Given the description of an element on the screen output the (x, y) to click on. 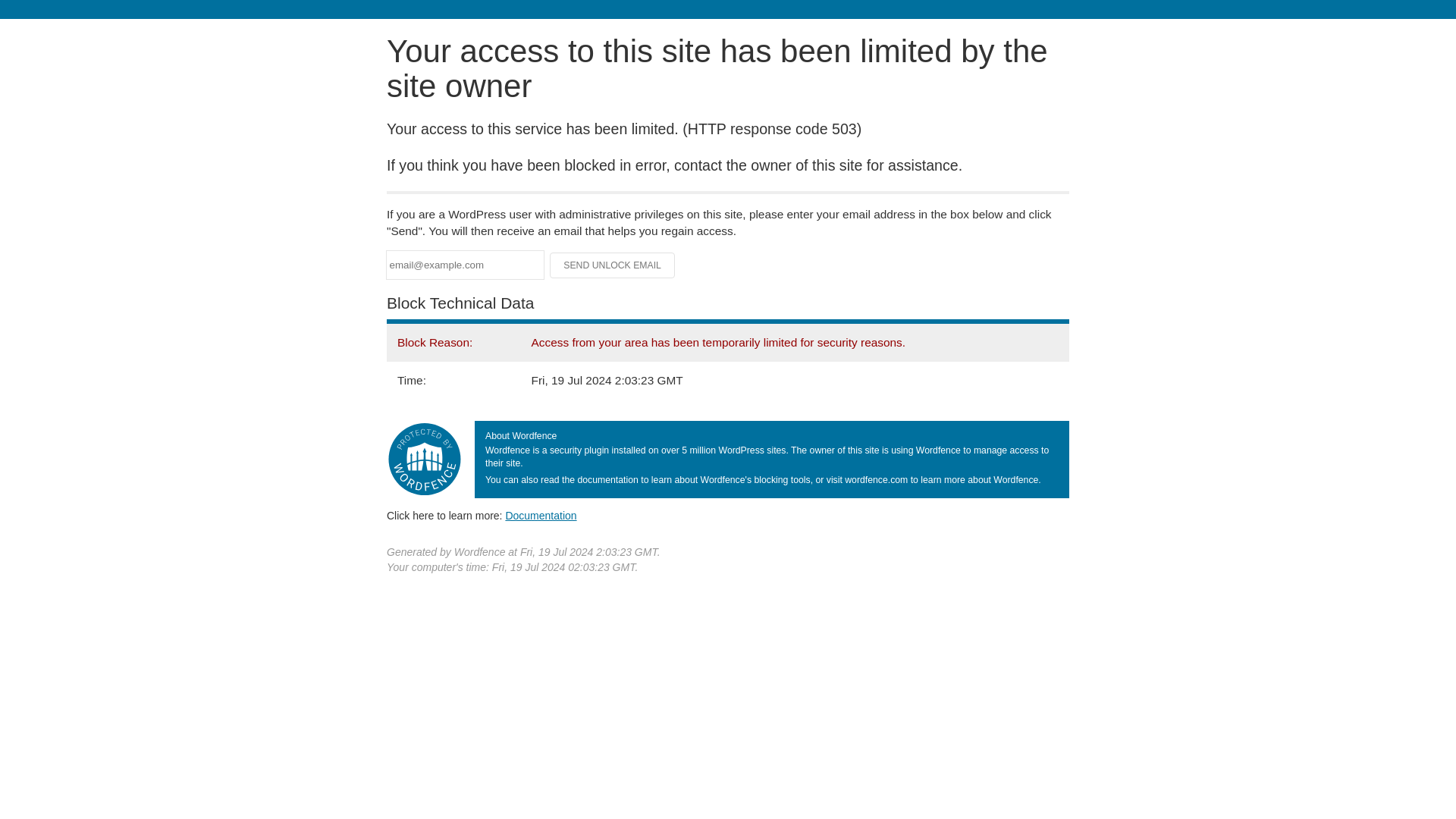
Documentation (540, 515)
Send Unlock Email (612, 265)
Send Unlock Email (612, 265)
